Given the description of an element on the screen output the (x, y) to click on. 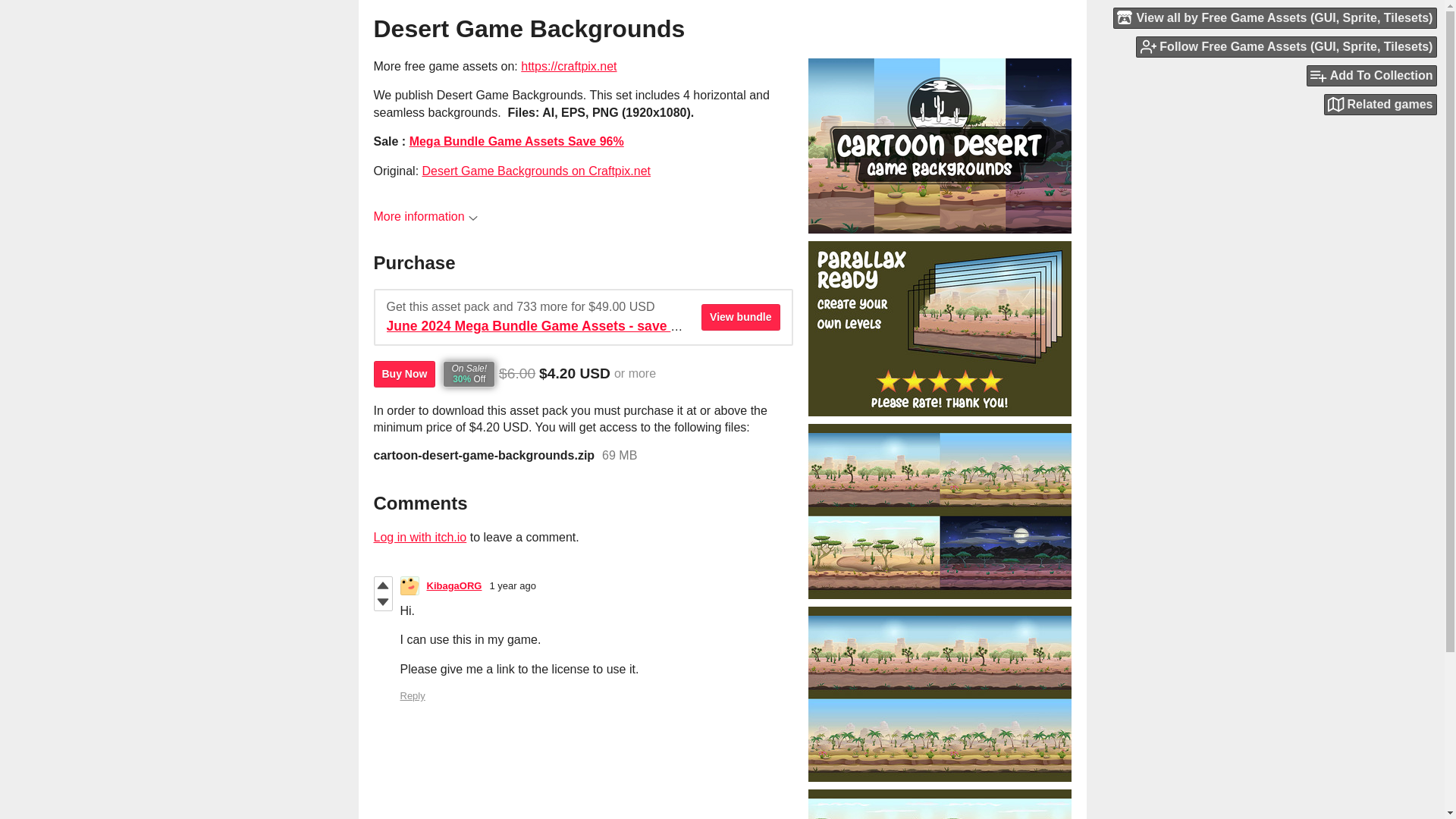
More information (424, 215)
Vote up (382, 585)
cartoon-desert-game-backgrounds.zip (483, 455)
View bundle (739, 316)
Reply (412, 695)
KibagaORG (453, 585)
Vote down (382, 601)
Related games (1380, 104)
1 year ago (512, 585)
Desert Game Backgrounds on Craftpix.net (536, 170)
2023-06-07 08:33:31 (512, 585)
Log in with itch.io (418, 536)
Add To Collection (1371, 75)
Buy Now (403, 374)
